Given the description of an element on the screen output the (x, y) to click on. 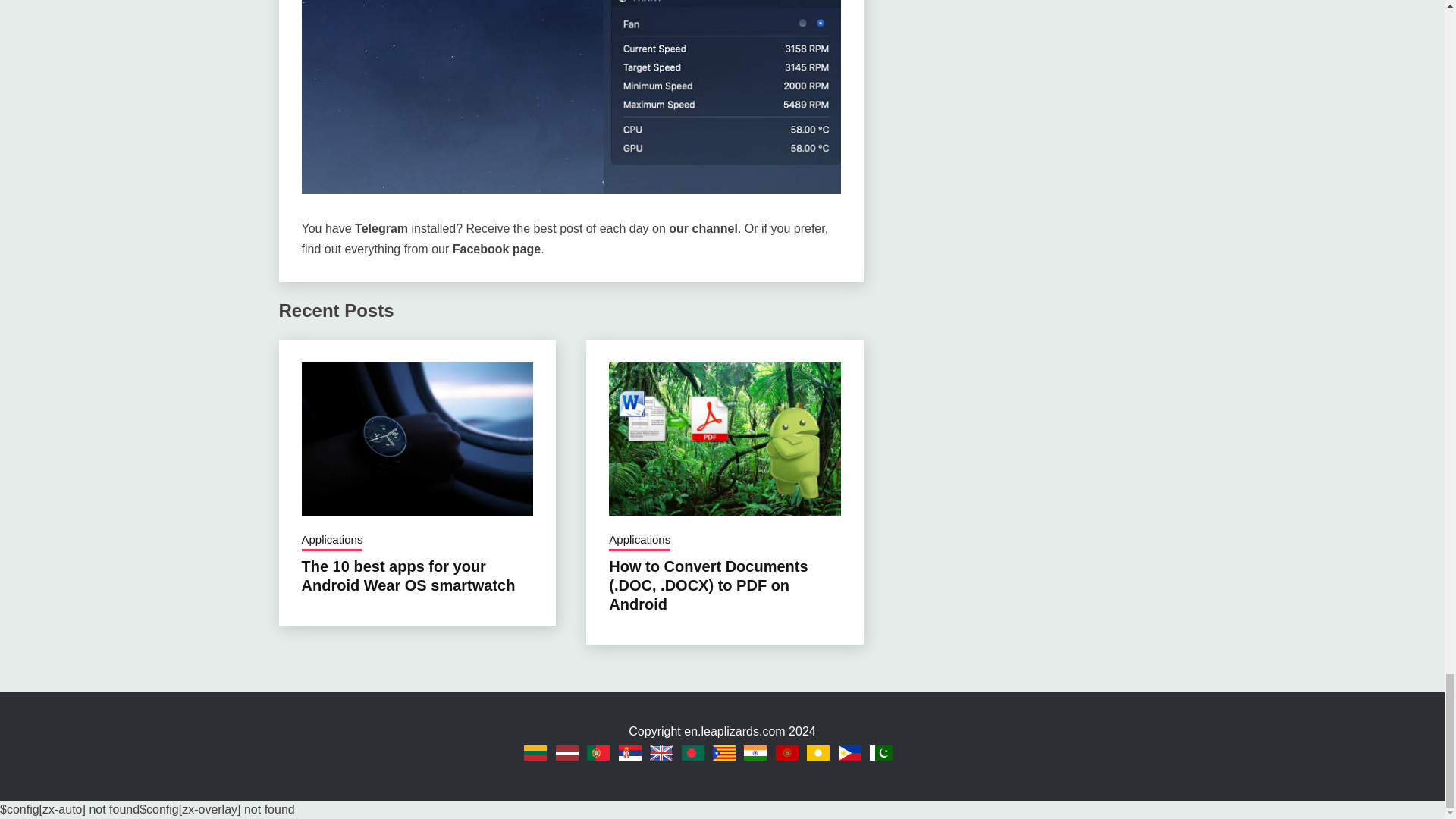
Applications (638, 541)
The 10 best apps for your Android Wear OS smartwatch (408, 575)
Applications (331, 541)
